Given the description of an element on the screen output the (x, y) to click on. 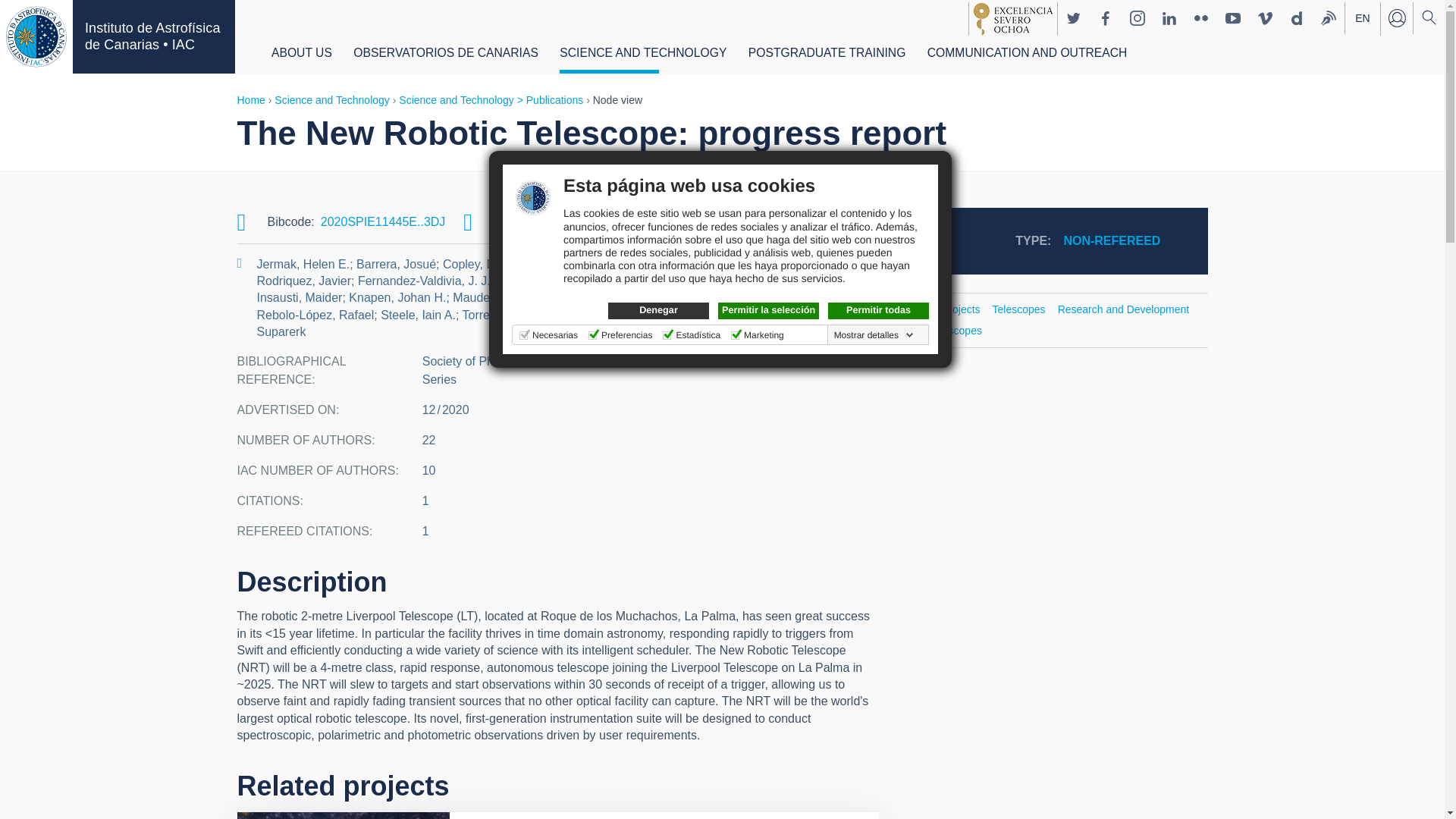
Denegar (658, 310)
Permitir todas (878, 310)
Mostrar detalles (874, 335)
